Given the description of an element on the screen output the (x, y) to click on. 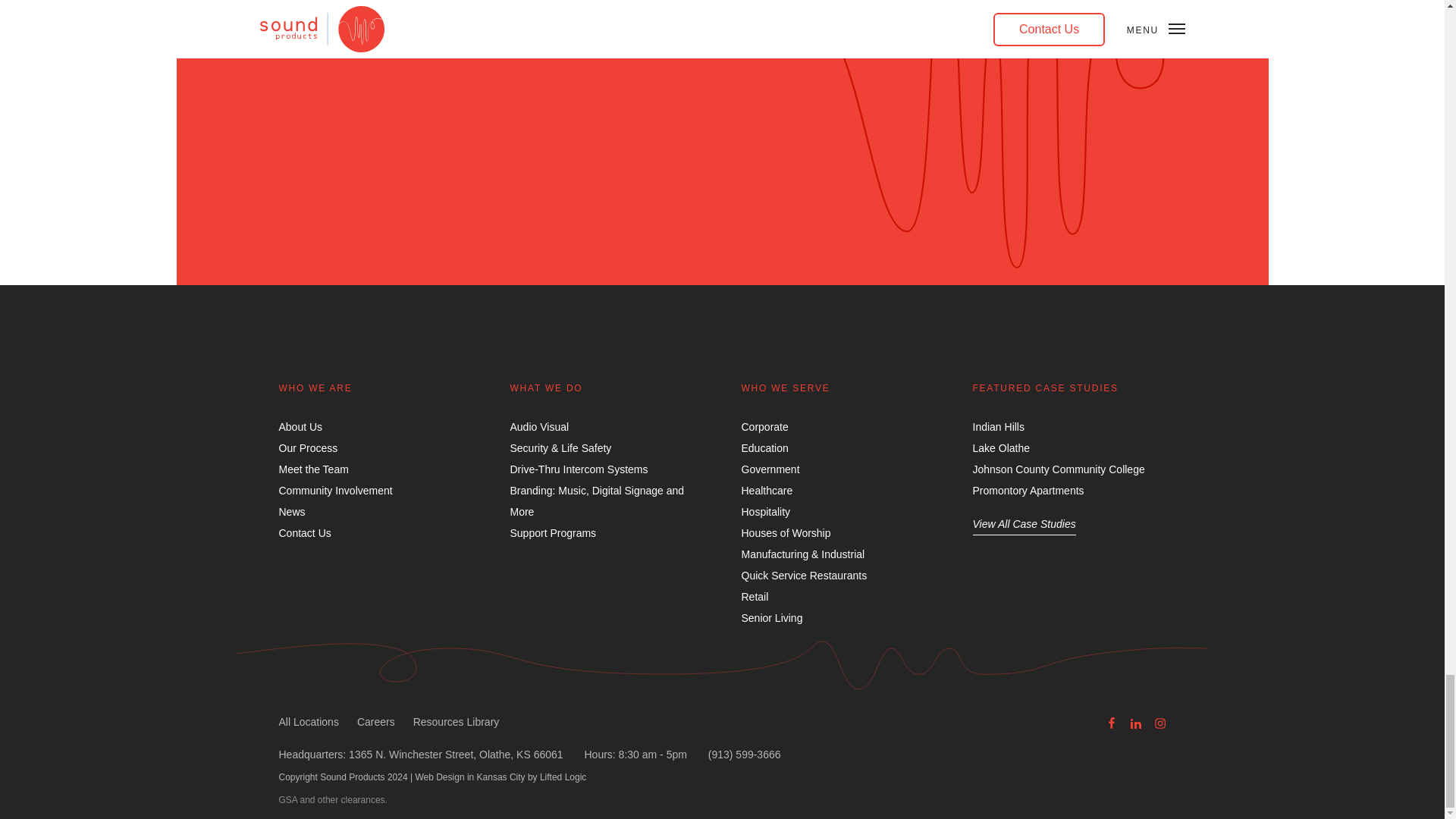
About Us (301, 426)
Meet the Team (314, 469)
Community Involvement (336, 490)
News (292, 511)
Our Process (308, 448)
Contact Us (305, 532)
Audio Visual (539, 426)
